Given the description of an element on the screen output the (x, y) to click on. 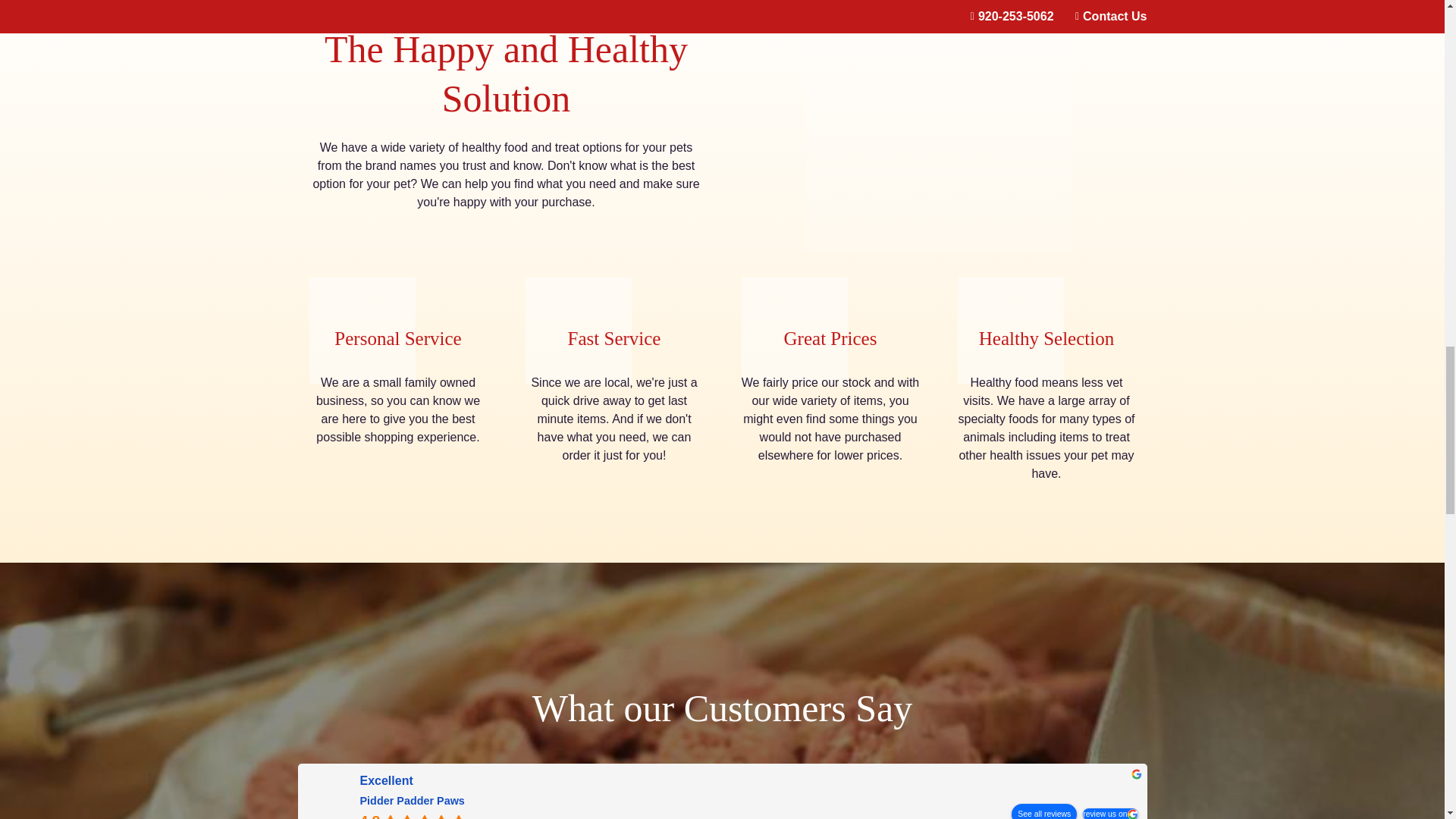
See all reviews (1044, 811)
sitting free img (361, 330)
minding free img (577, 330)
grooming free img (1009, 330)
Pidder Padder Paws (330, 804)
Pidder Padder Paws (411, 800)
pets about free img (937, 125)
training free img (794, 330)
